Given the description of an element on the screen output the (x, y) to click on. 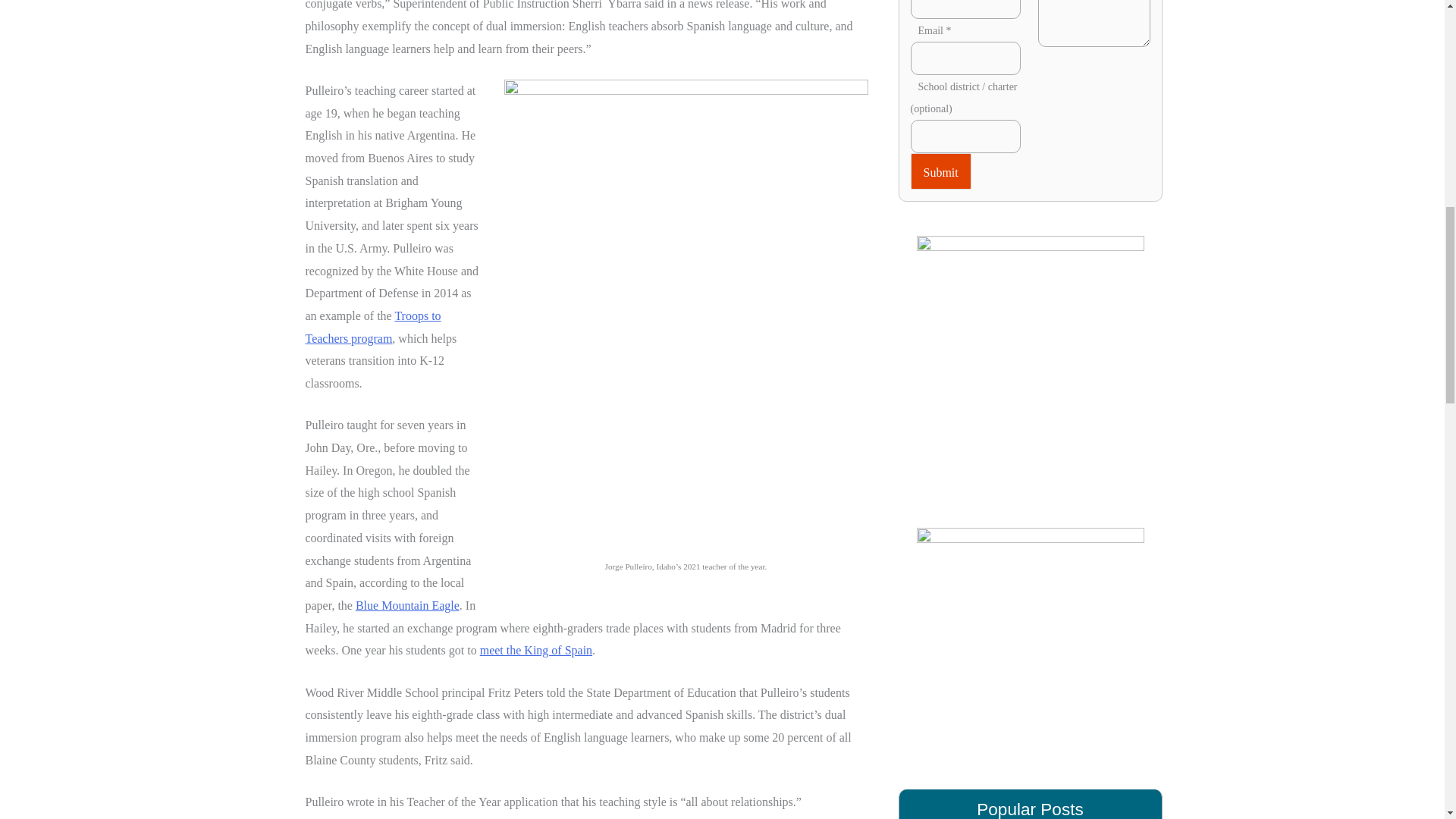
Troops to Teachers program (372, 326)
Blue Mountain Eagle (407, 604)
Submit (940, 171)
meet the King of Spain (536, 649)
